Given the description of an element on the screen output the (x, y) to click on. 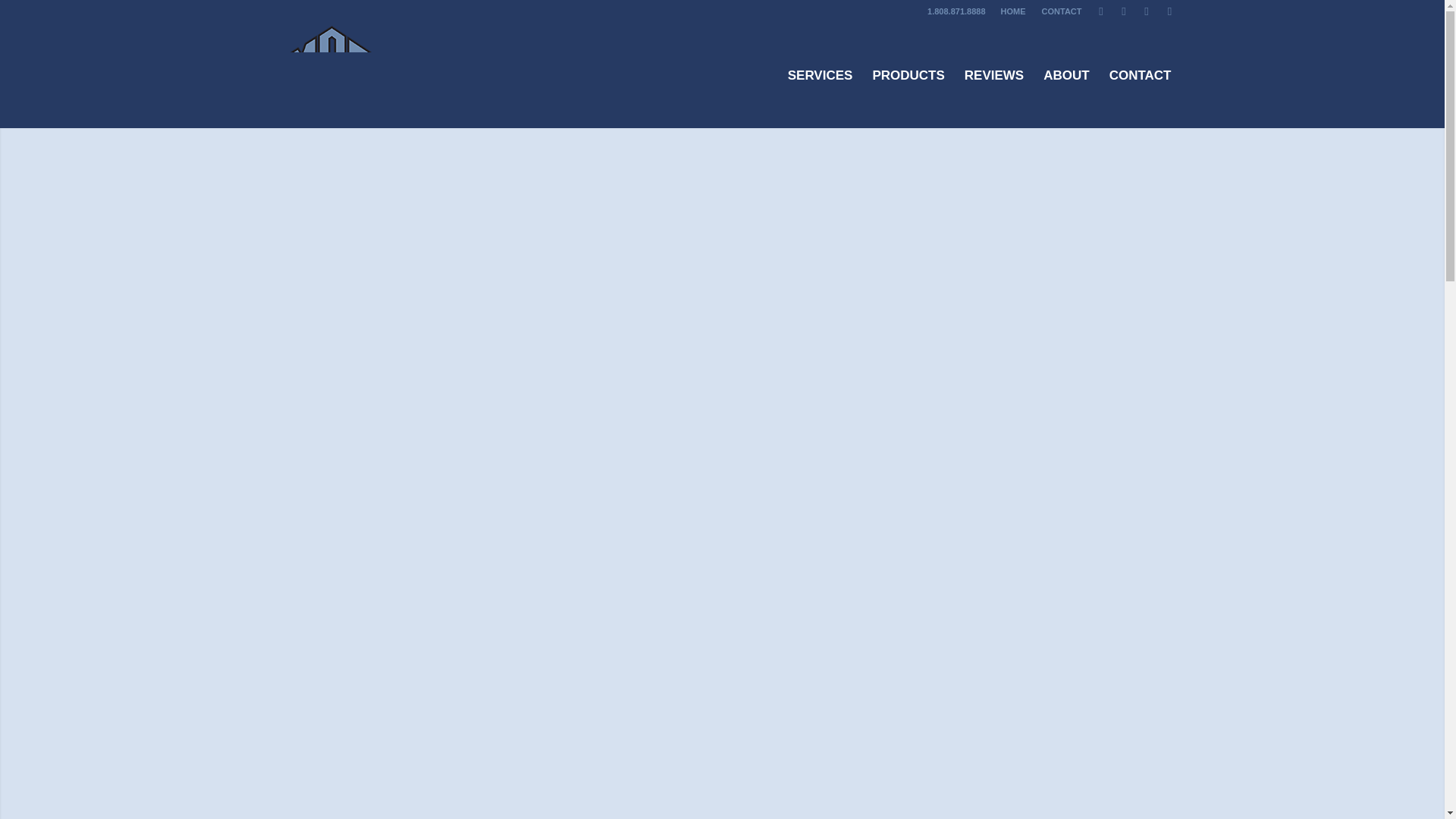
CONTACT (1061, 11)
Instagram (1101, 11)
Mail (1169, 11)
HOME (1013, 11)
Facebook (1146, 11)
logo-new (427, 74)
1.808.871.8888 (956, 10)
Twitter (1124, 11)
